Given the description of an element on the screen output the (x, y) to click on. 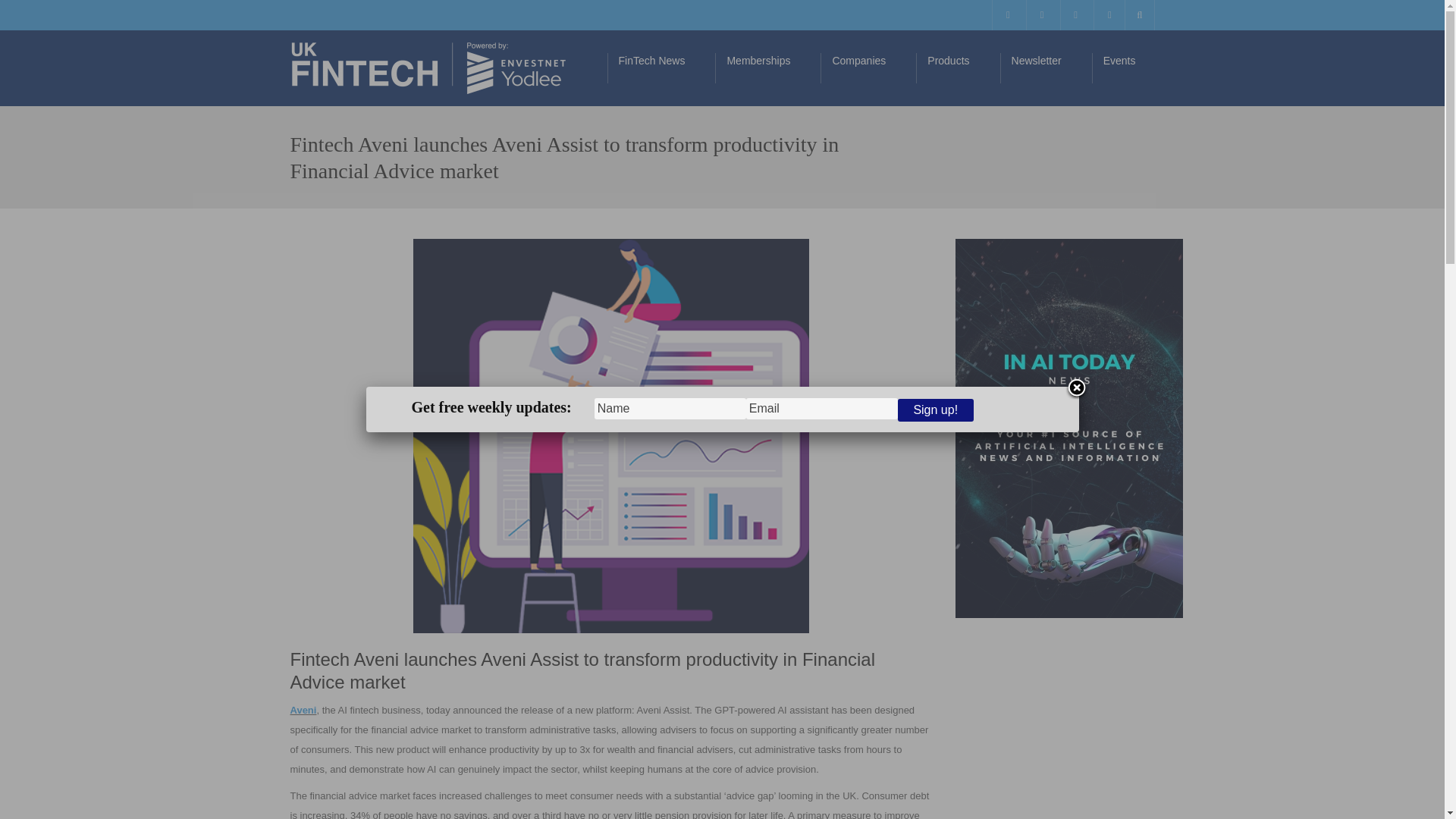
FinTech News (661, 68)
Sign up! (936, 409)
Products (956, 68)
Memberships (767, 68)
Events (1129, 68)
Close (1075, 388)
Advertisement (1054, 729)
Newsletter (1046, 68)
Companies (868, 68)
Aveni (302, 709)
